Given the description of an element on the screen output the (x, y) to click on. 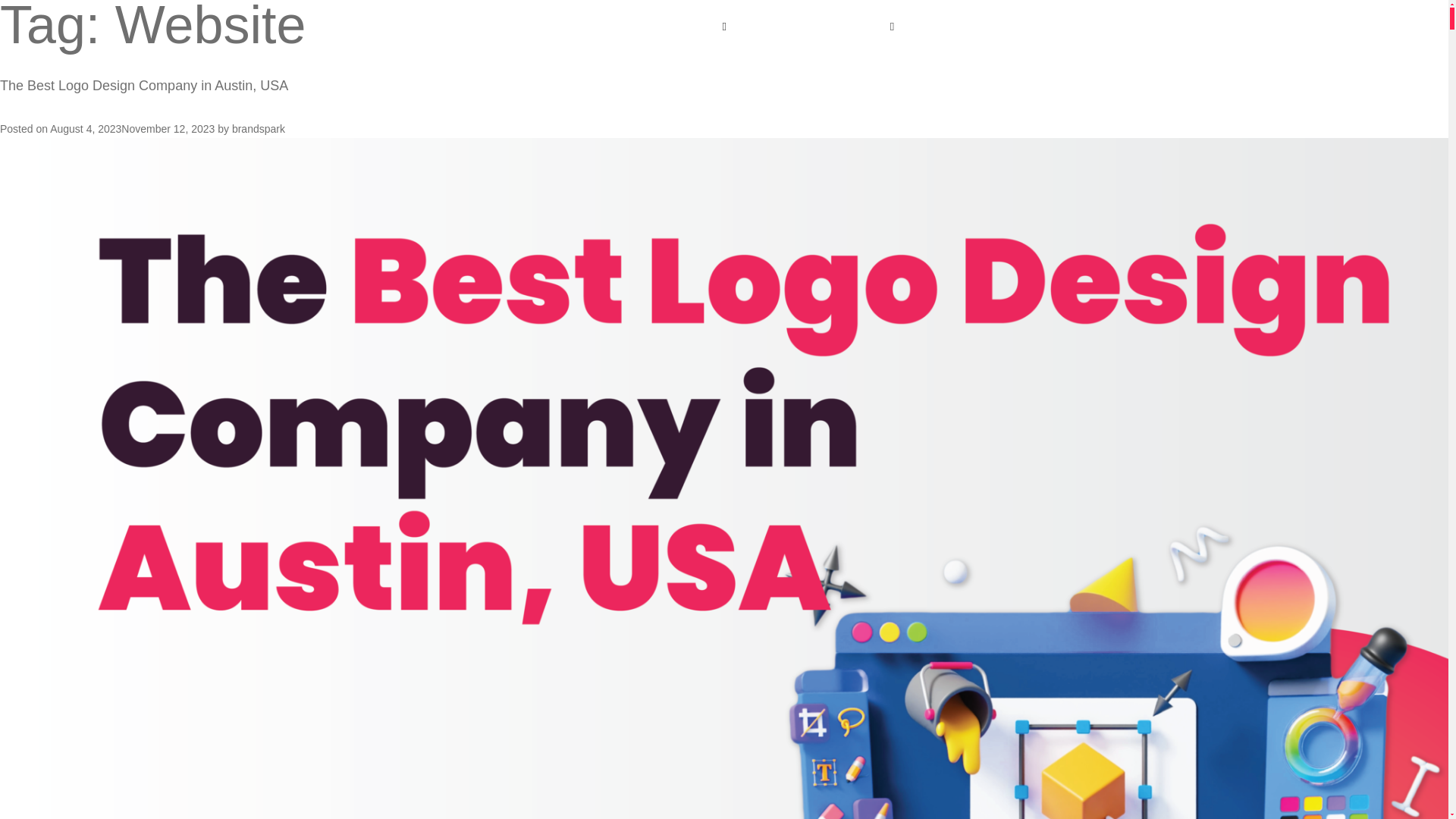
brandspark (258, 128)
CONTACT (1122, 27)
PRICING (1058, 27)
ABOUT (922, 27)
PORTFOLIO (988, 27)
DIGITAL MARKETING SERVICES (810, 27)
SERVICES (691, 27)
HOME (631, 27)
August 4, 2023November 12, 2023 (131, 128)
The Best Logo Design Company in Austin, USA (144, 85)
